Given the description of an element on the screen output the (x, y) to click on. 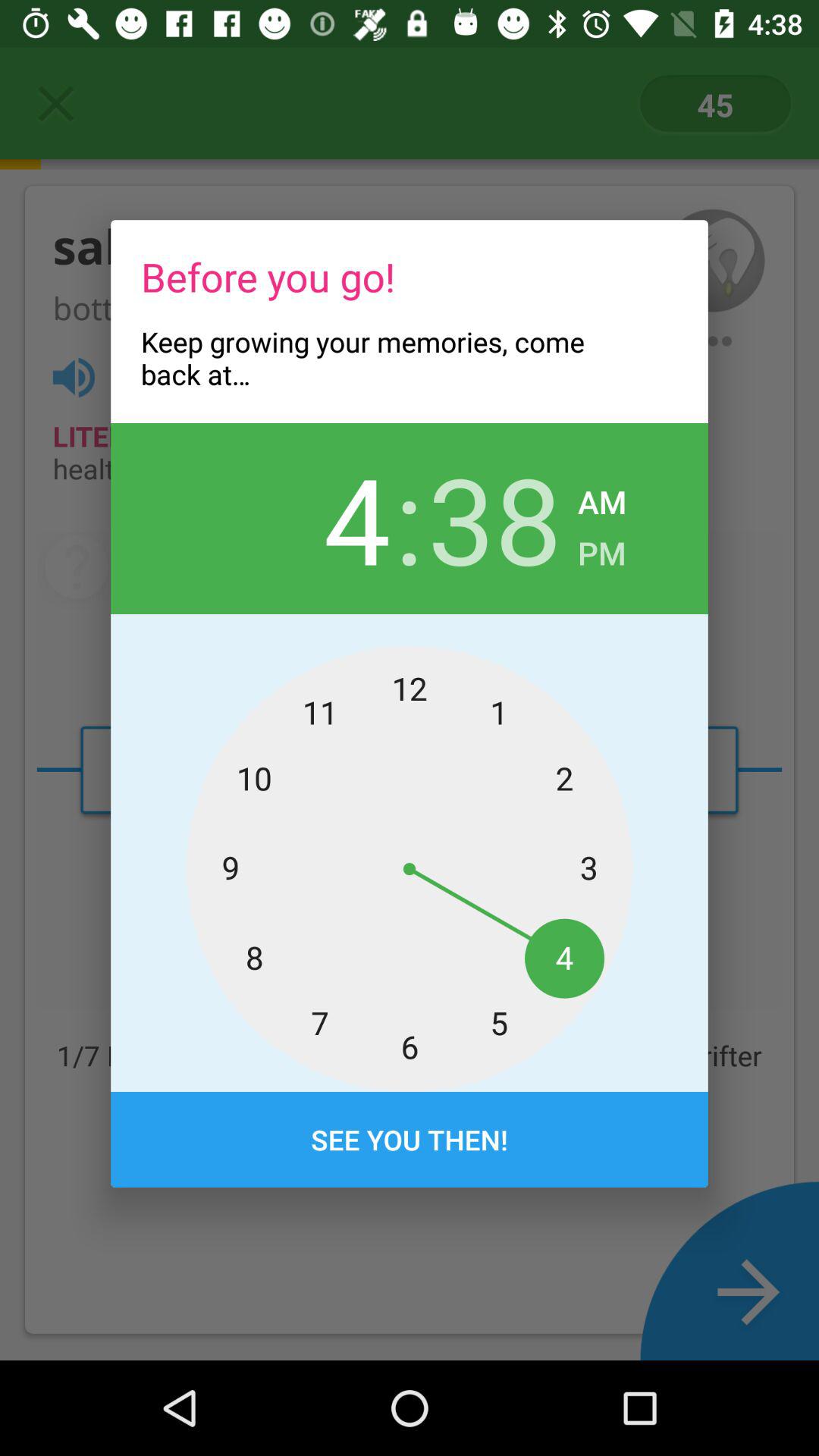
open icon below the keep growing your item (323, 518)
